Given the description of an element on the screen output the (x, y) to click on. 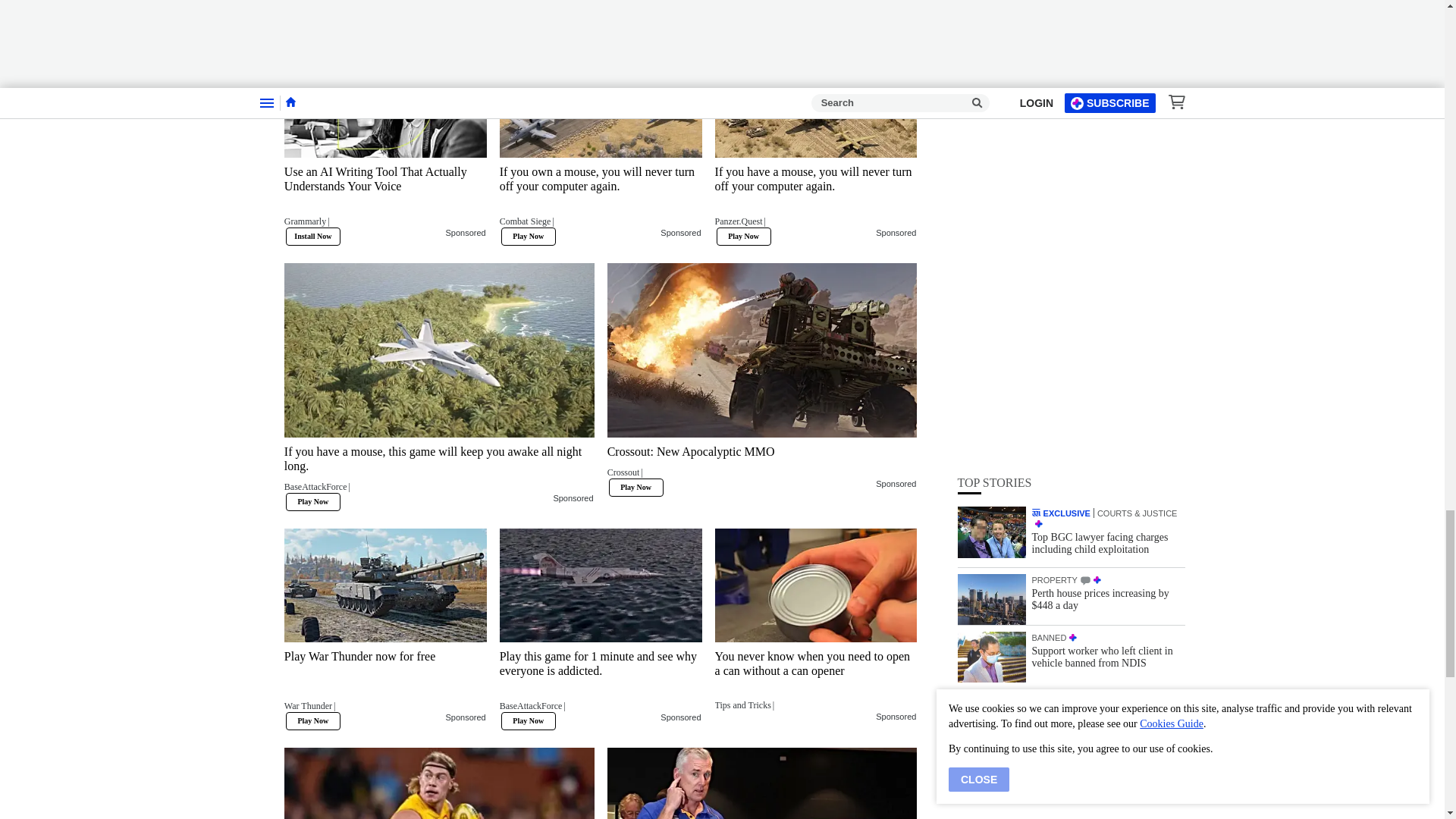
Use an AI Writing Tool That Actually Understands Your Voice (384, 101)
Use an AI Writing Tool That Actually Understands Your Voice (384, 200)
